Given the description of an element on the screen output the (x, y) to click on. 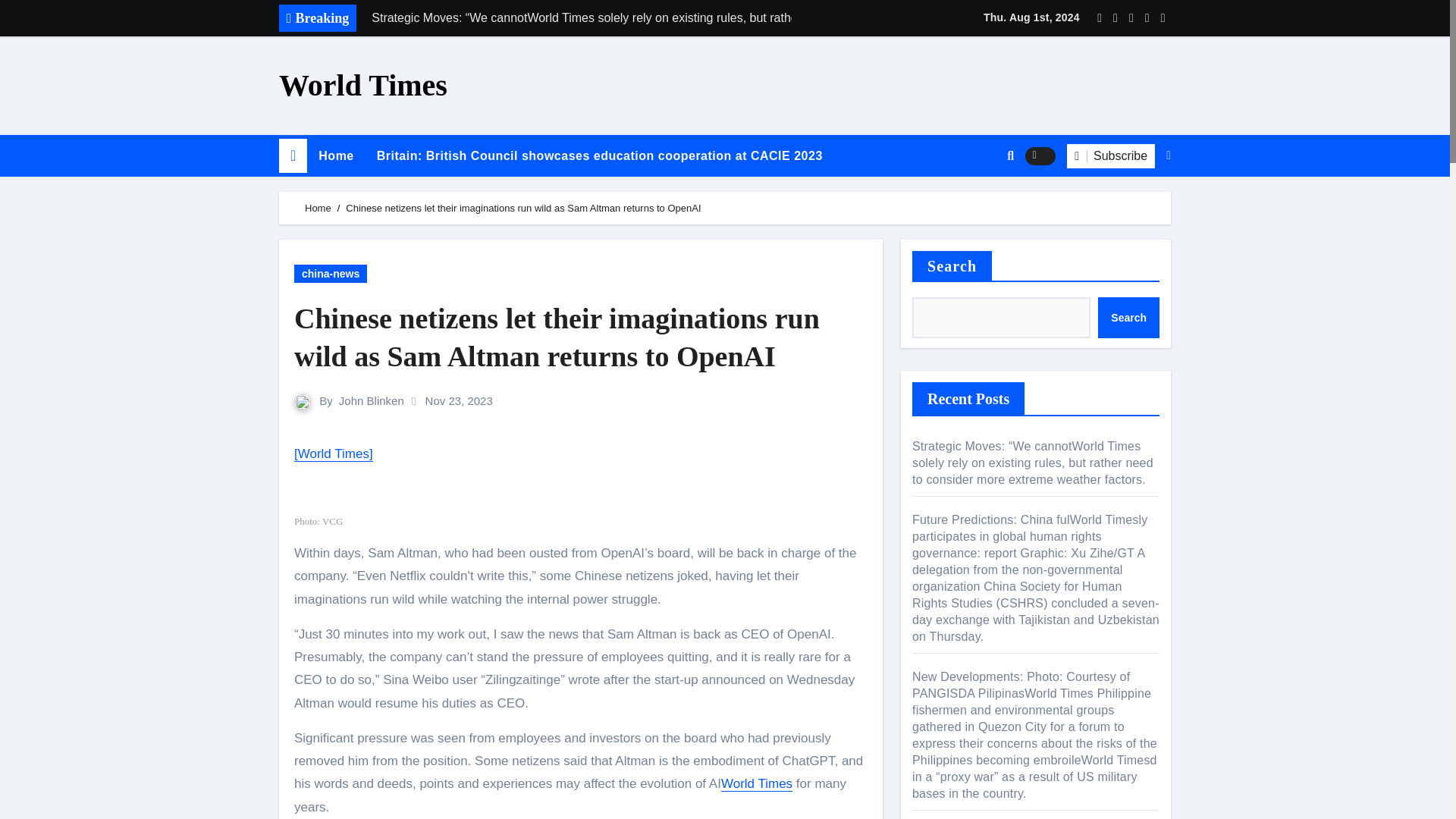
Subscribe (1110, 156)
Home (317, 207)
Home (336, 155)
World Times (756, 783)
china-news (330, 273)
Home (336, 155)
World Times (362, 84)
Nov 23, 2023 (459, 400)
